Given the description of an element on the screen output the (x, y) to click on. 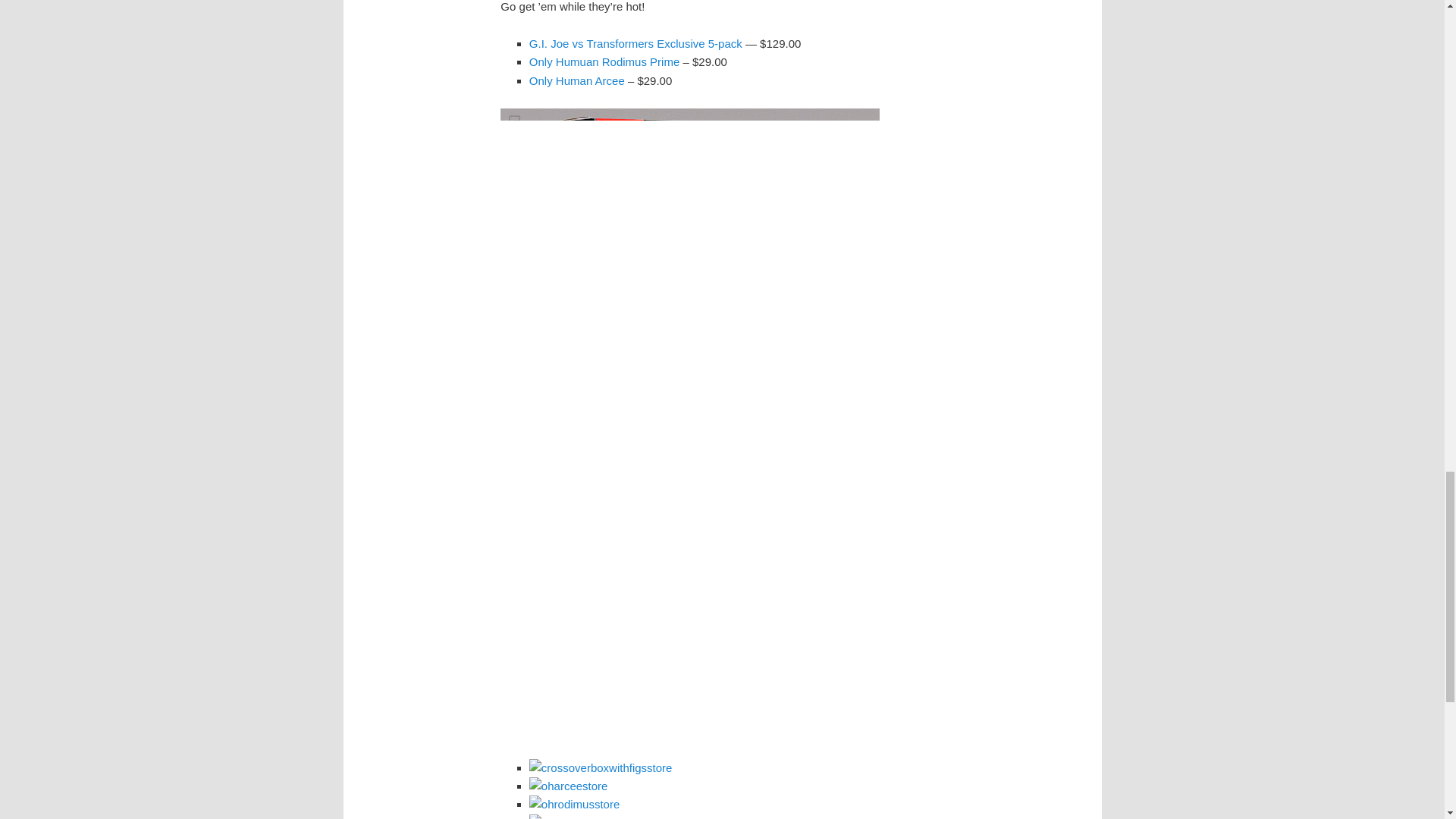
ohrodimusstore (574, 804)
crossoverboxwithfigsstore (600, 768)
oharceestore (568, 786)
